Given the description of an element on the screen output the (x, y) to click on. 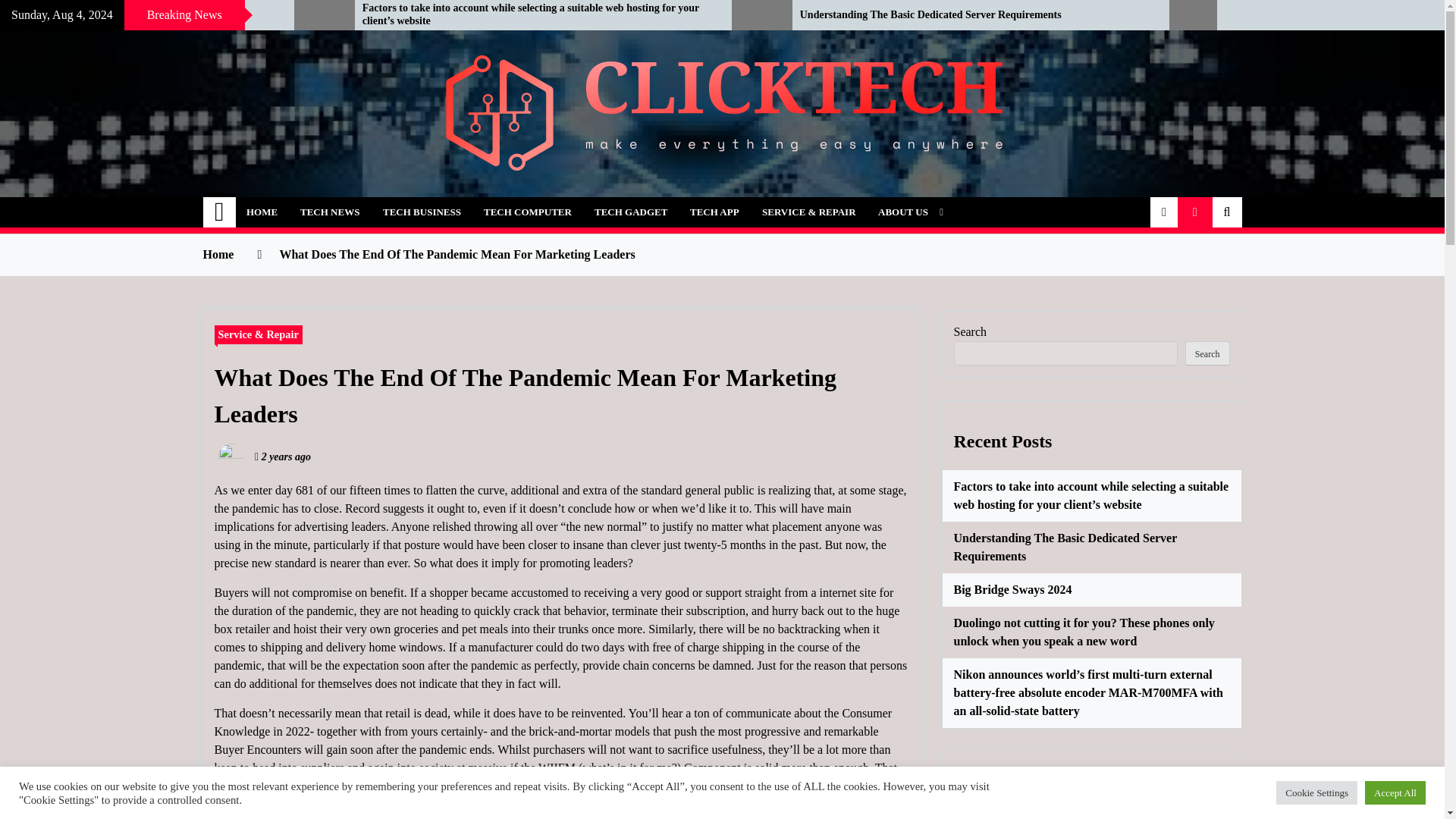
Home (219, 212)
Understanding The Basic Dedicated Server Requirements (973, 15)
